Given the description of an element on the screen output the (x, y) to click on. 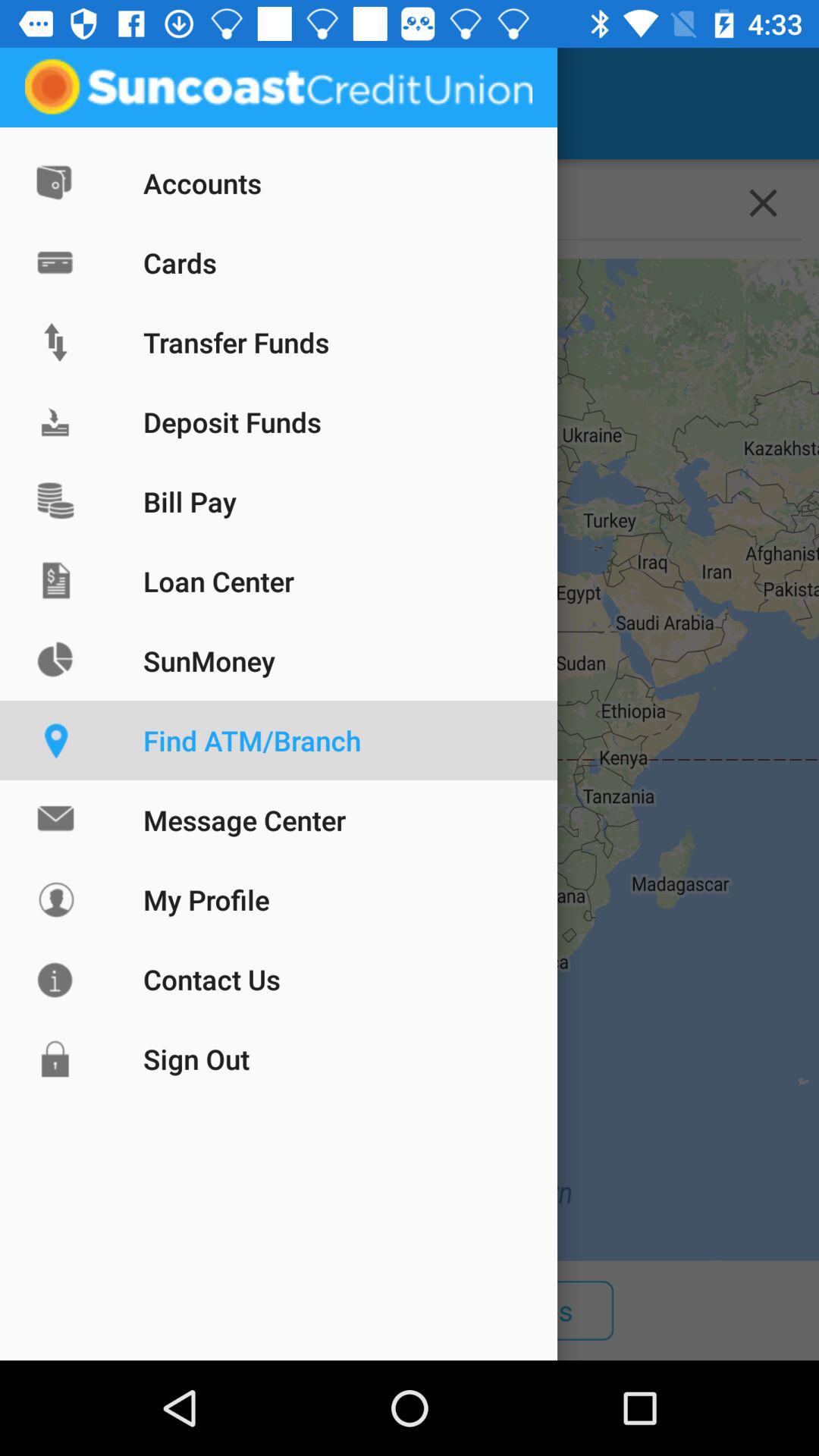
flip until the atms icon (316, 1310)
